Given the description of an element on the screen output the (x, y) to click on. 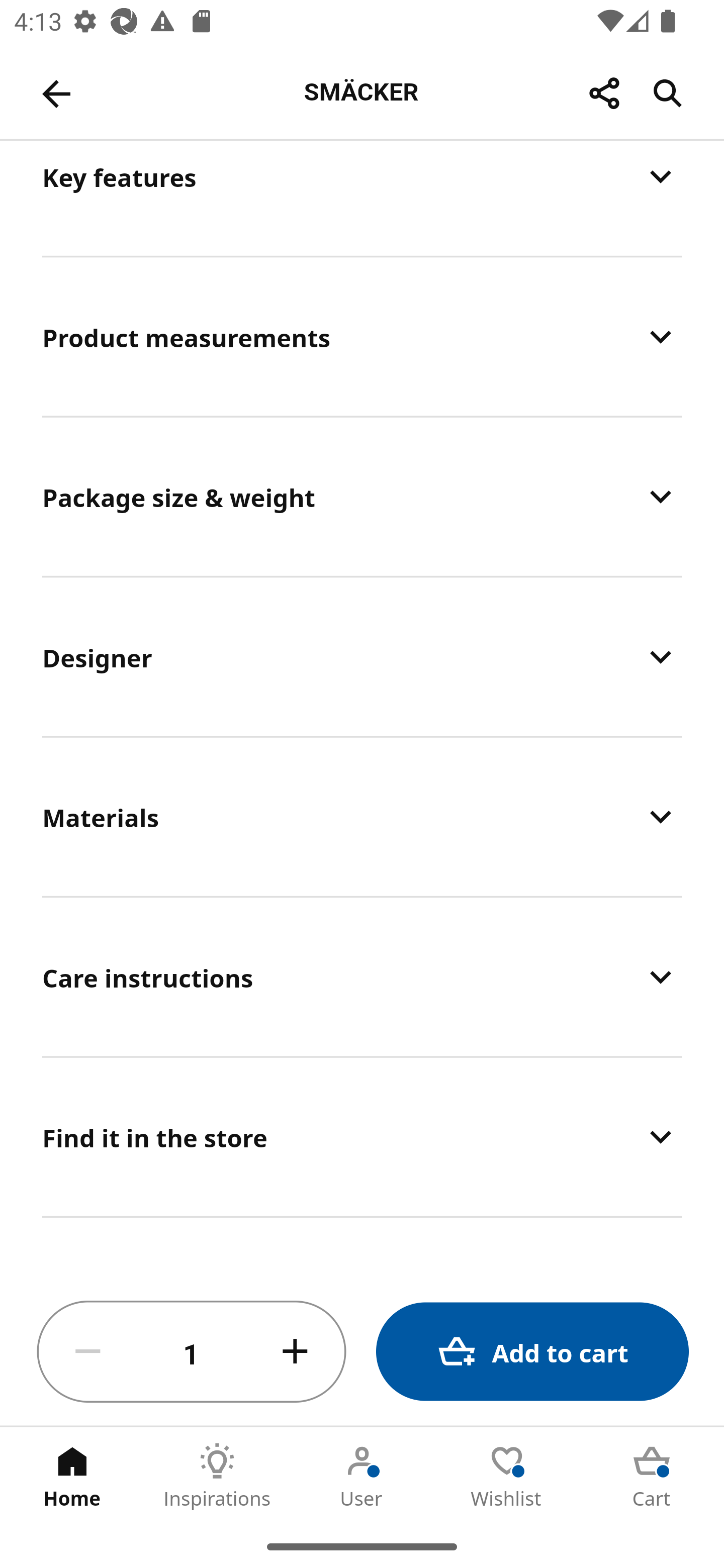
Key features (361, 197)
Product measurements (361, 335)
Package size & weight (361, 495)
Designer (361, 656)
Materials (361, 815)
Care instructions (361, 976)
Find it in the store (361, 1136)
Add to cart (531, 1352)
1 (191, 1352)
Home
Tab 1 of 5 (72, 1476)
Inspirations
Tab 2 of 5 (216, 1476)
User
Tab 3 of 5 (361, 1476)
Wishlist
Tab 4 of 5 (506, 1476)
Cart
Tab 5 of 5 (651, 1476)
